Given the description of an element on the screen output the (x, y) to click on. 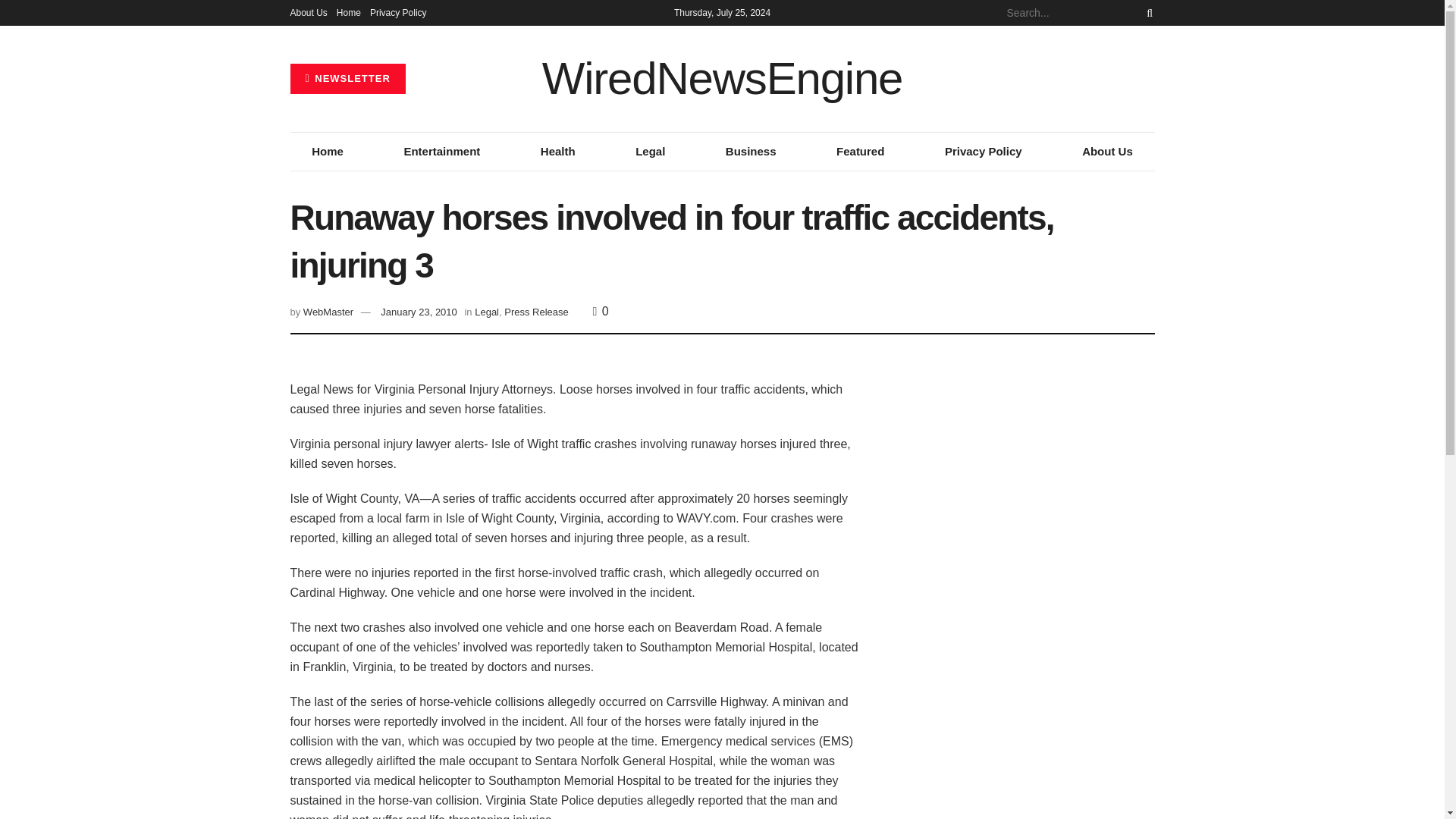
0 (600, 310)
About Us (307, 12)
Home (348, 12)
Business (750, 151)
Legal (649, 151)
Health (557, 151)
NEWSLETTER (346, 78)
Privacy Policy (983, 151)
WebMaster (327, 311)
WiredNewsEngine (721, 78)
Entertainment (441, 151)
Home (327, 151)
Privacy Policy (397, 12)
Legal (486, 311)
About Us (1106, 151)
